Given the description of an element on the screen output the (x, y) to click on. 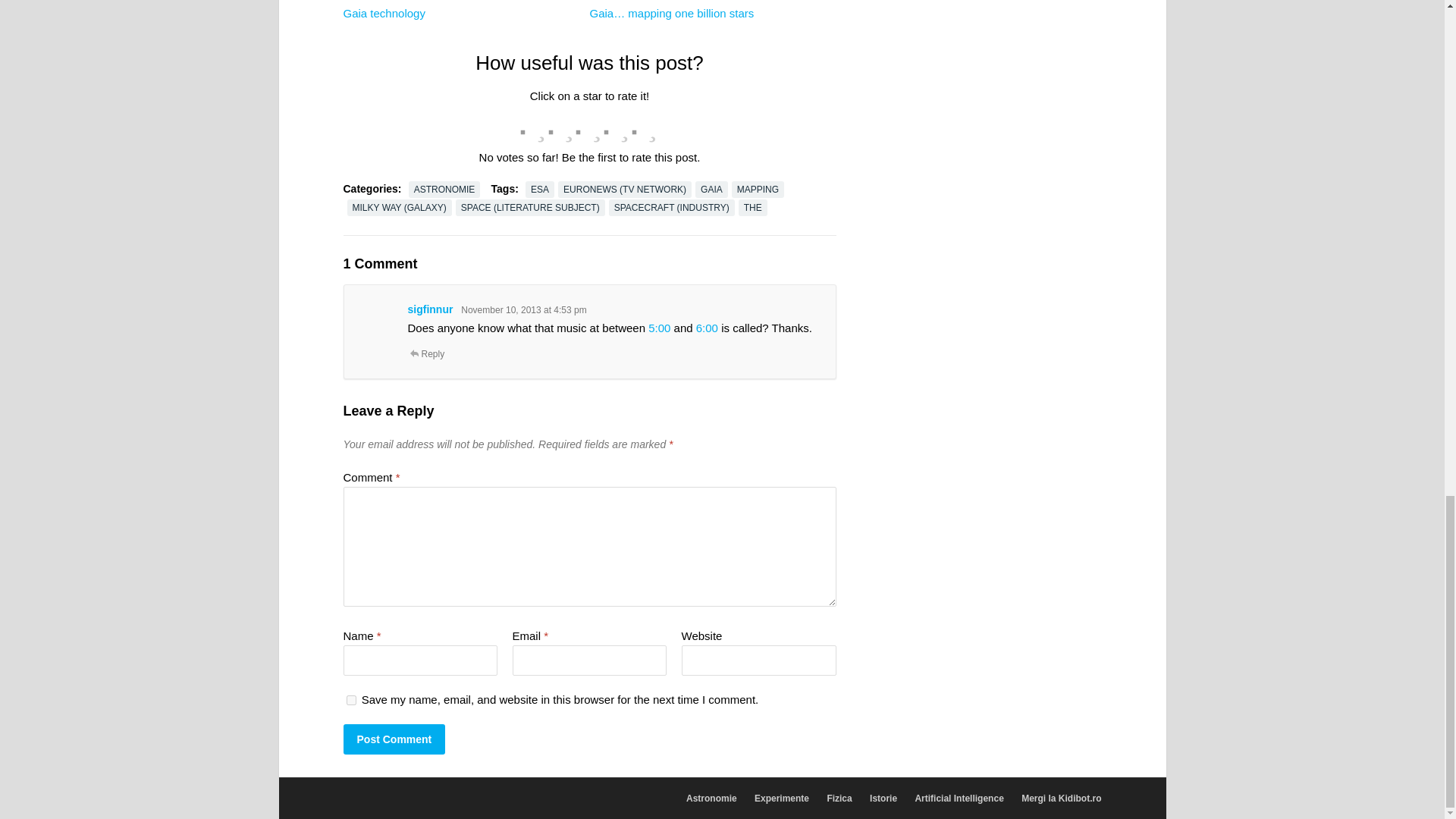
ESA (539, 189)
Post Comment (393, 738)
yes (350, 700)
ASTRONOMIE (444, 189)
GAIA (711, 189)
Gaia technology (383, 12)
Gaia (418, 51)
Gaia technology (383, 12)
